Given the description of an element on the screen output the (x, y) to click on. 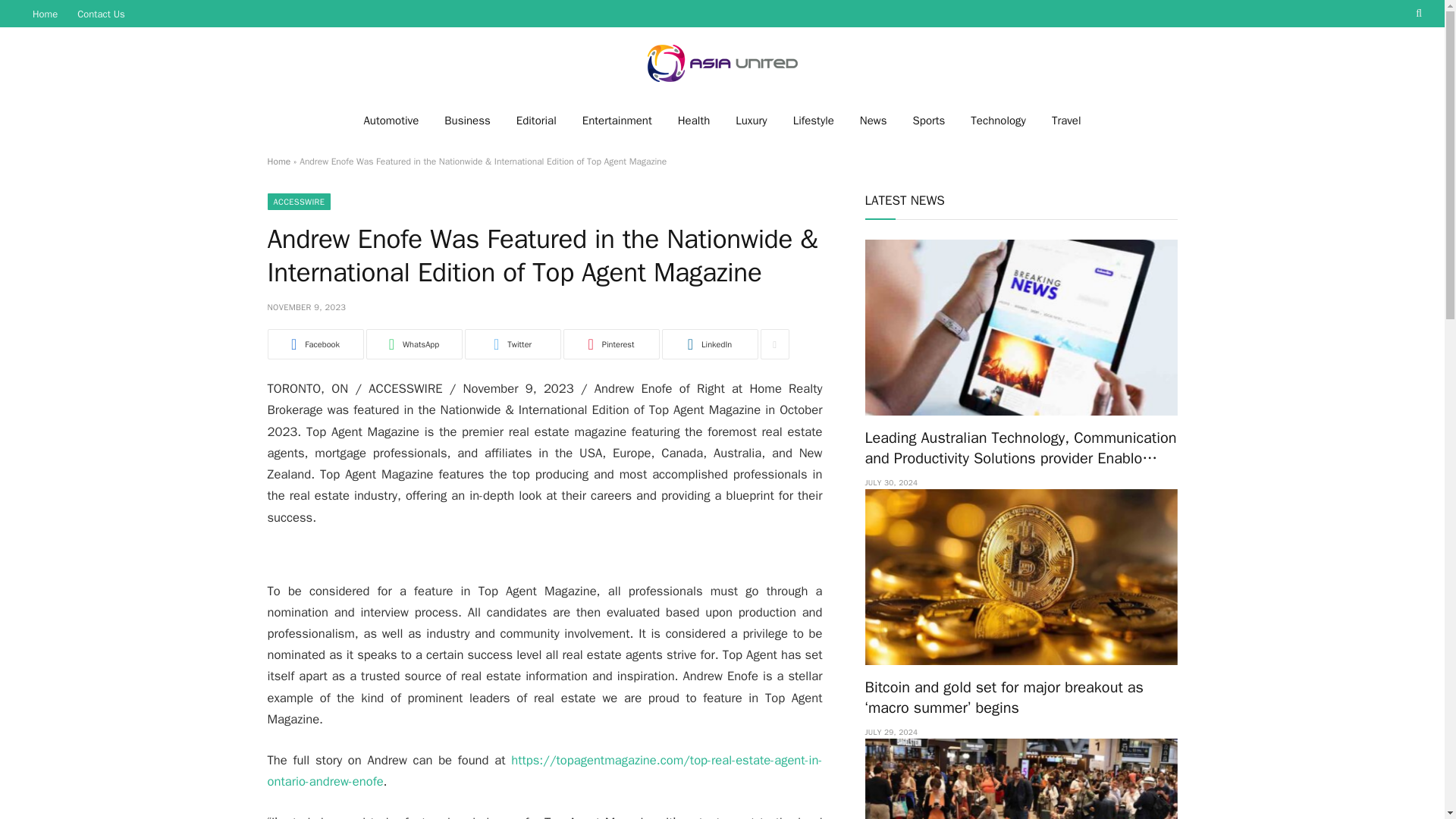
Share on WhatsApp (413, 344)
Share on Facebook (314, 344)
Show More Social Sharing (774, 344)
Technology (998, 119)
Automotive (390, 119)
Pinterest (610, 344)
Share on LinkedIn (709, 344)
Luxury (750, 119)
Home (44, 13)
Asia United (721, 63)
WhatsApp (413, 344)
News (873, 119)
Business (466, 119)
Sports (928, 119)
Entertainment (617, 119)
